Given the description of an element on the screen output the (x, y) to click on. 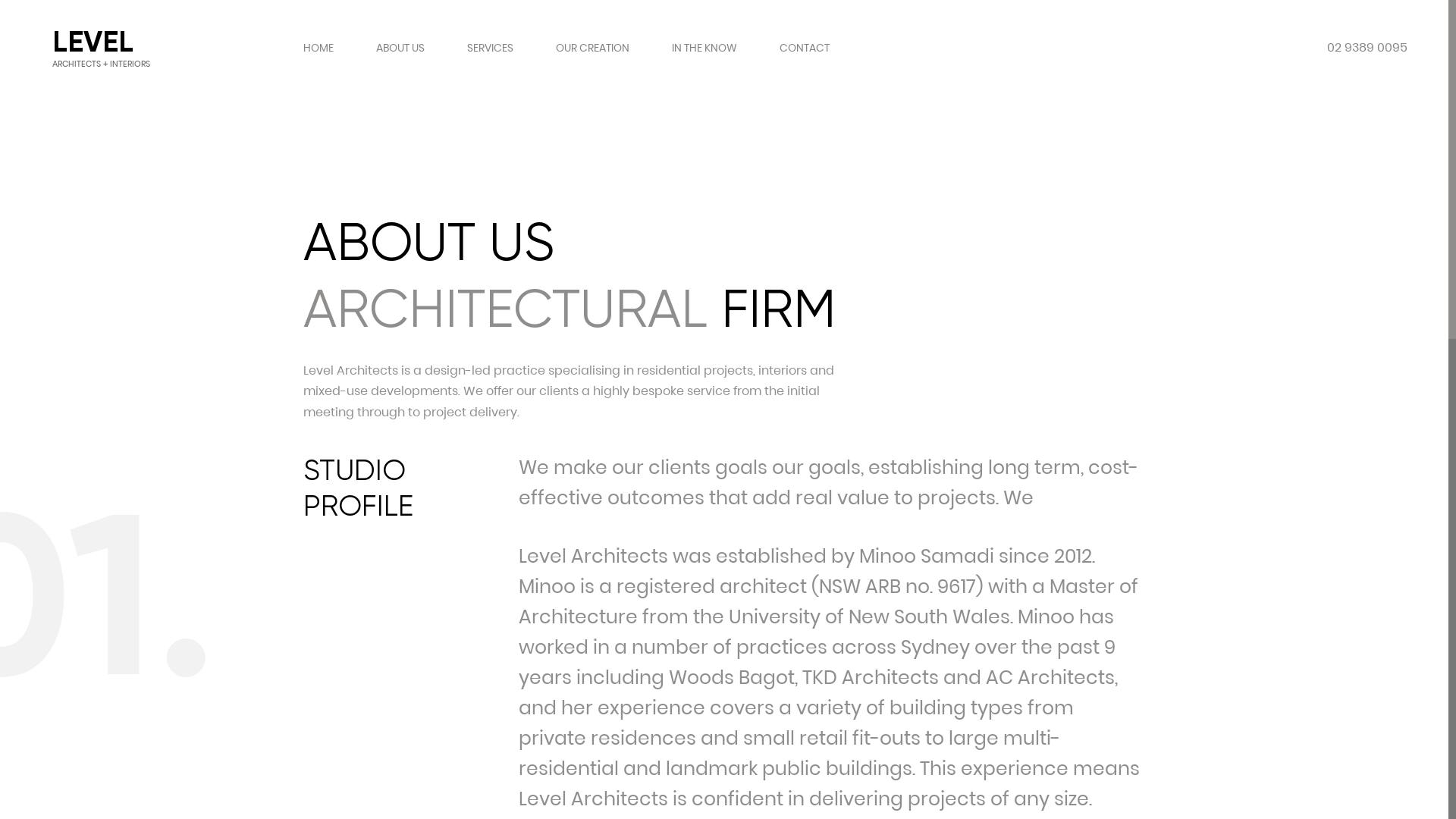
Contact Element type: text (292, 608)
Home Element type: text (286, 466)
Level Architects Google Reviews Element type: hover (421, 639)
HOME Element type: text (318, 47)
ABN 66 629 432 006 Element type: text (950, 705)
Our Creation Element type: text (306, 551)
IN THE KNOW Element type: text (704, 47)
Services Element type: text (293, 523)
Facebook Element type: hover (285, 639)
houzz Element type: hover (353, 639)
ABOUT US Element type: text (400, 47)
Instagram Element type: hover (319, 639)
CONTACT Element type: text (804, 47)
Linkedin Element type: hover (387, 639)
Architects NSW Register Element type: hover (455, 639)
Directions Element type: hover (489, 652)
Education and Community Element type: text (577, 523)
Registered Architect (NSW ARB NO. 9617) Element type: text (813, 705)
About Us Element type: text (295, 495)
LEVEL
ARCHITECTS + INTERIORS Element type: text (89, 474)
In The Know Element type: text (303, 580)
Commercial & Industrial Element type: text (569, 495)
OUR CREATION Element type: text (592, 47)
02 9389 0095 Element type: text (1367, 47)
SERVICES Element type: text (490, 47)
Luxury House Design Element type: text (557, 551)
Residential Element type: text (529, 466)
Google Maps Element type: hover (489, 639)
LEVEL
ARCHITECTS + INTERIORS Element type: text (95, 47)
